Given the description of an element on the screen output the (x, y) to click on. 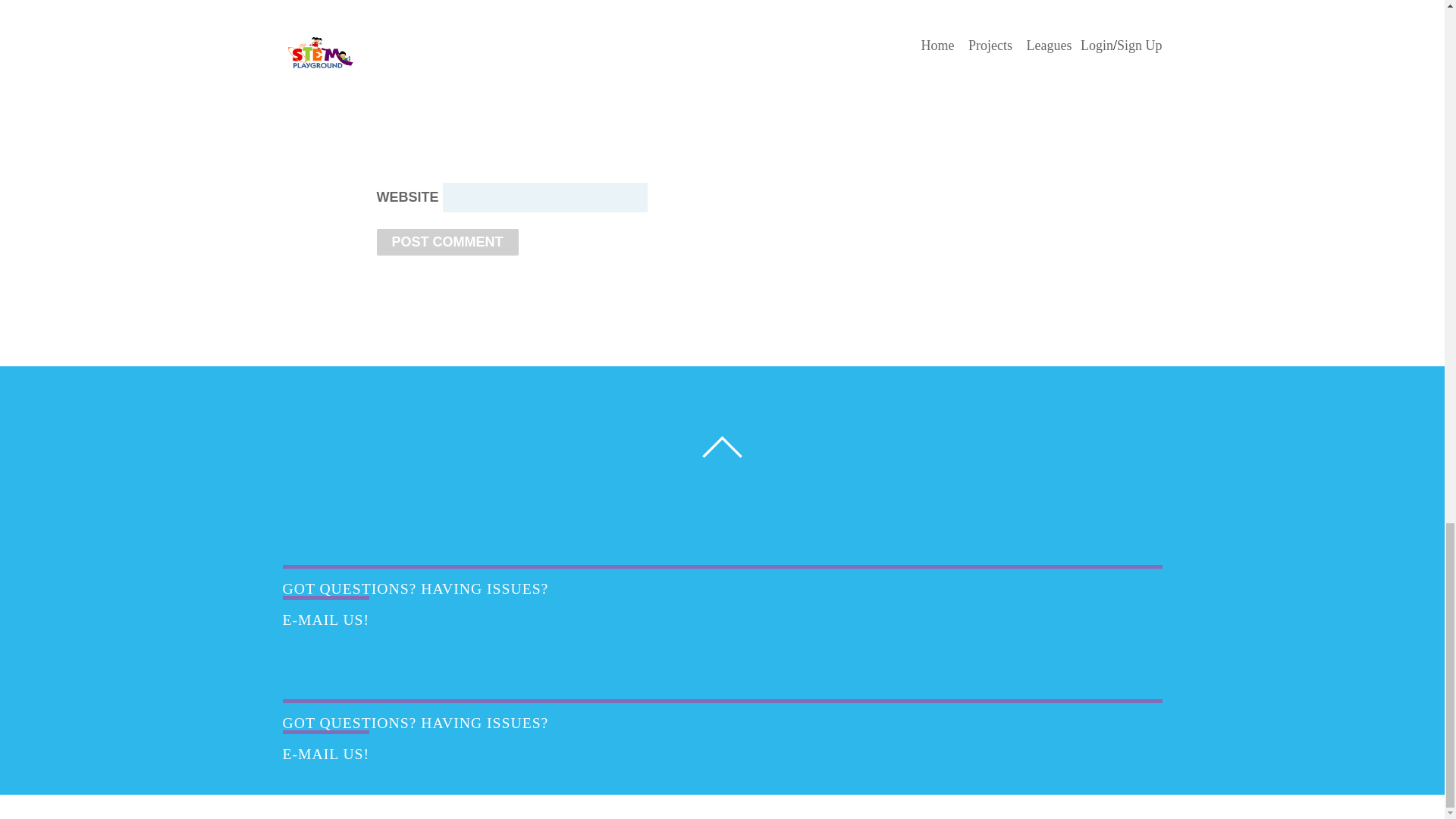
E-MAIL US! (325, 612)
Post Comment (446, 242)
Post Comment (446, 242)
E-MAIL US! (325, 746)
GOT QUESTIONS? HAVING ISSUES? (415, 722)
